Given the description of an element on the screen output the (x, y) to click on. 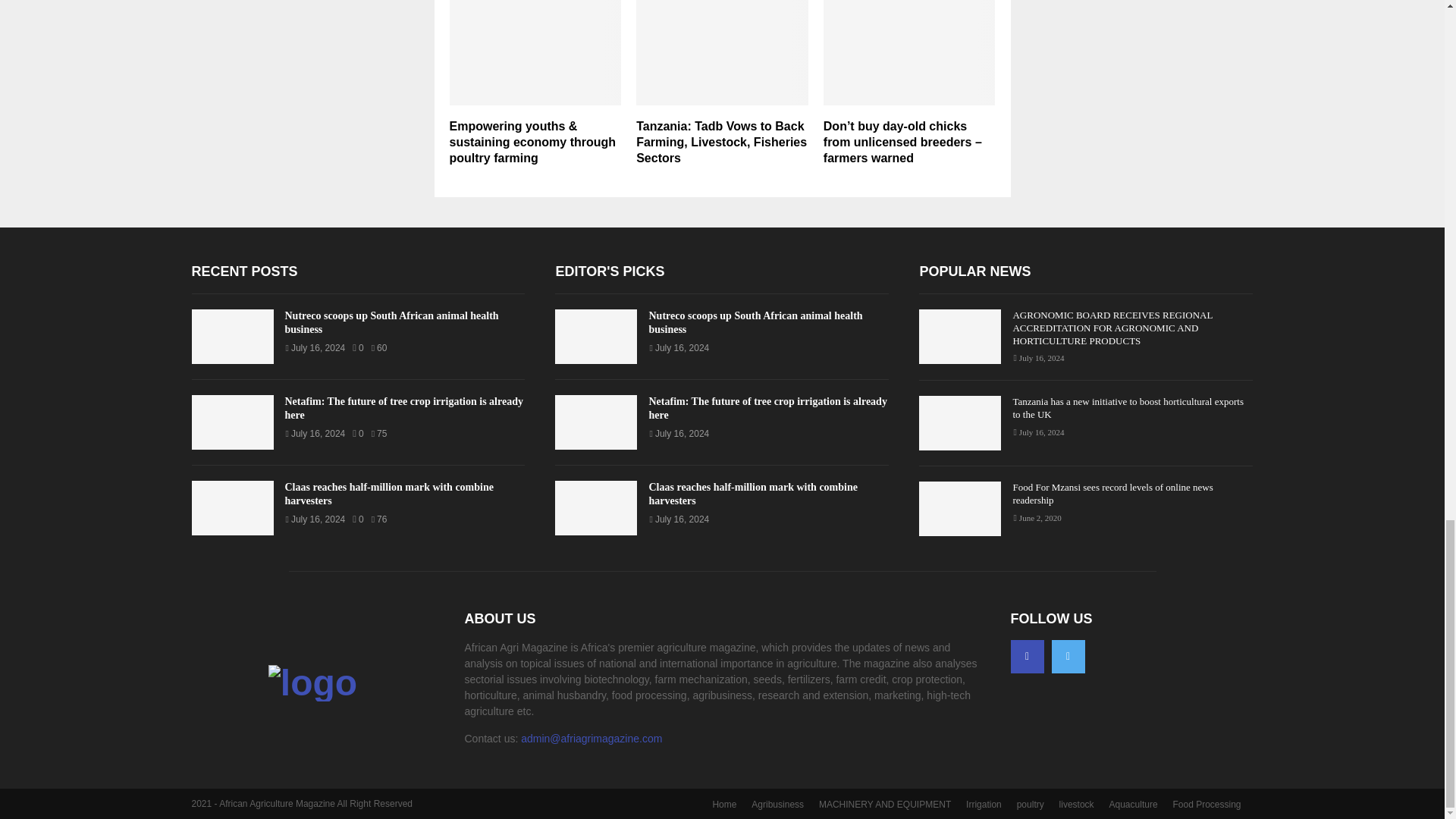
 Nutreco scoops up South African animal health business  (392, 322)
Netafim: The future of tree crop irrigation is already here (231, 421)
Nutreco scoops up South African animal health business (231, 336)
